Given the description of an element on the screen output the (x, y) to click on. 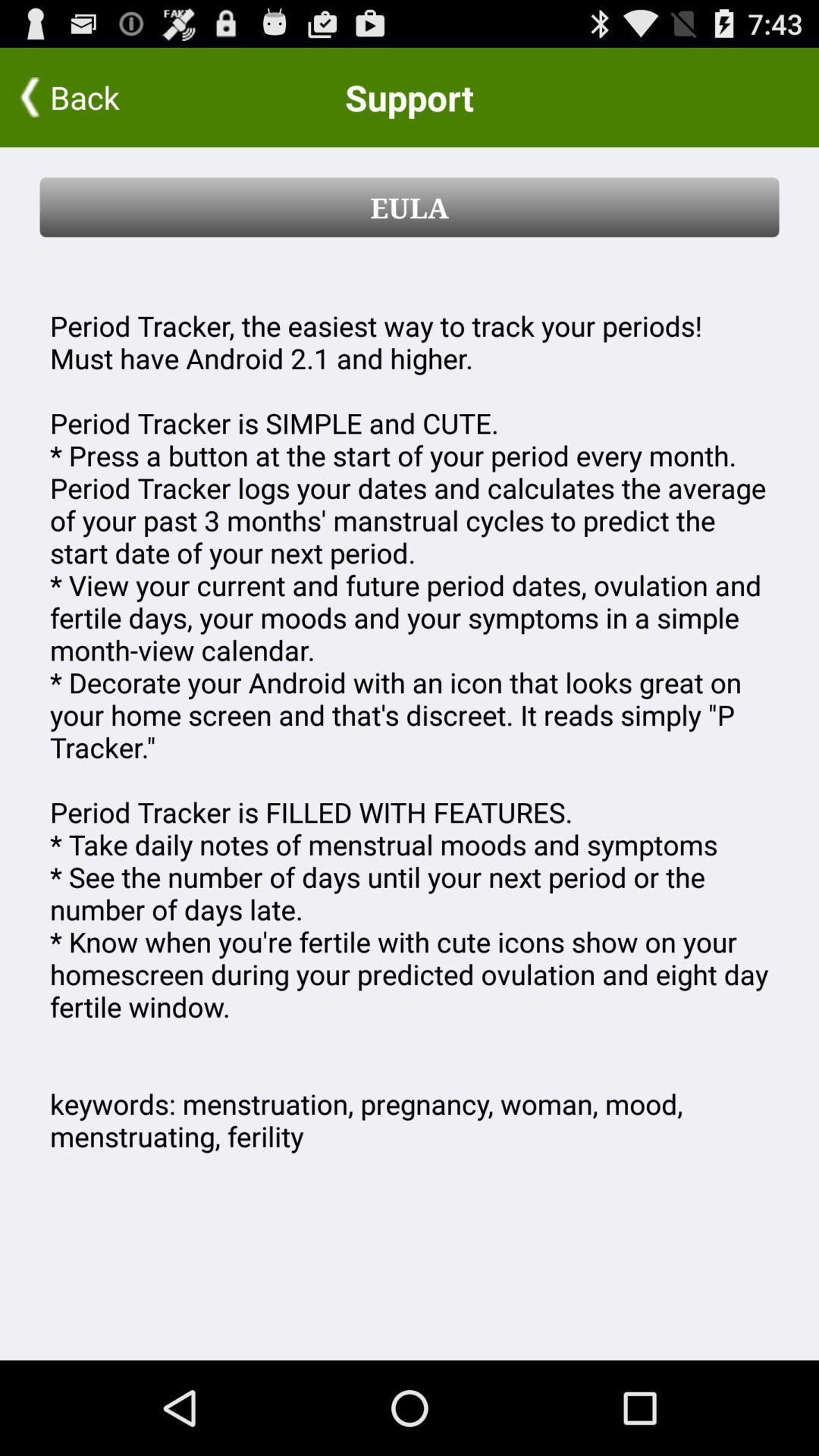
tap the item below the back icon (409, 207)
